Given the description of an element on the screen output the (x, y) to click on. 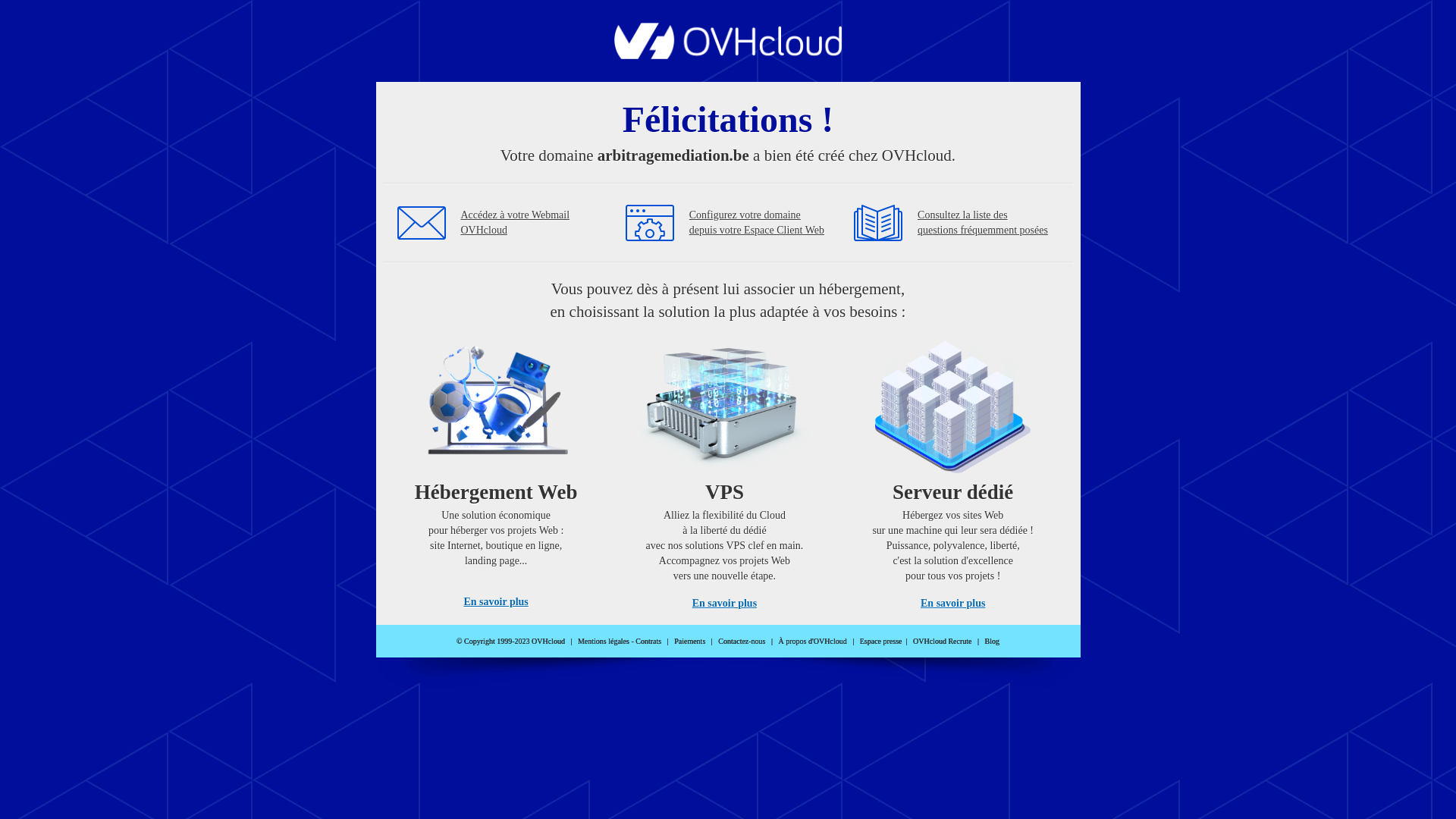
Espace presse Element type: text (880, 641)
Blog Element type: text (992, 641)
En savoir plus Element type: text (495, 601)
Configurez votre domaine
depuis votre Espace Client Web Element type: text (756, 222)
OVHcloud Element type: hover (727, 54)
Paiements Element type: text (689, 641)
OVHcloud Recrute Element type: text (942, 641)
Contactez-nous Element type: text (741, 641)
En savoir plus Element type: text (724, 602)
VPS Element type: hover (724, 469)
En savoir plus Element type: text (952, 602)
